Given the description of an element on the screen output the (x, y) to click on. 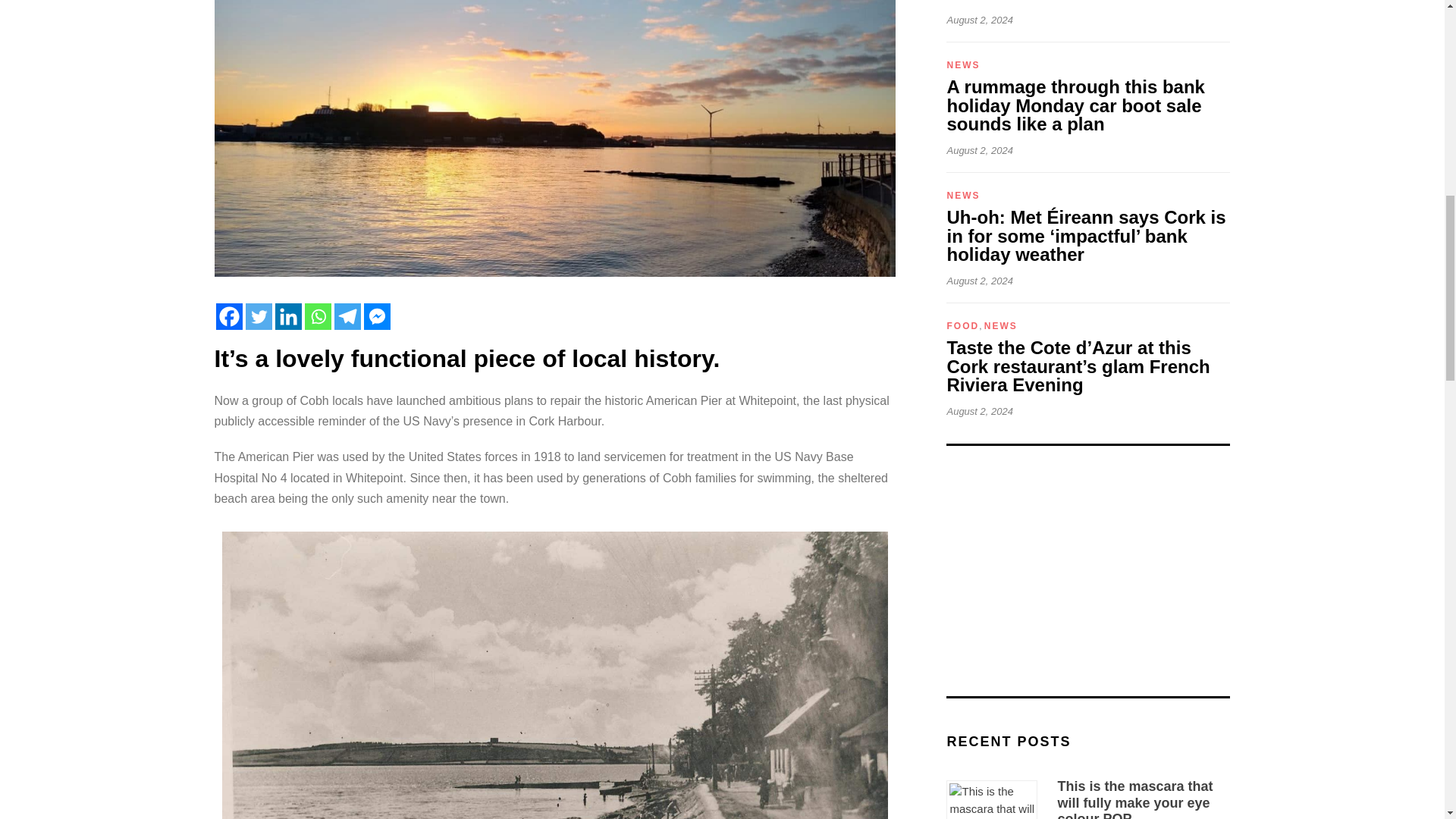
Twitter (259, 316)
Facebook (228, 316)
Telegram (346, 316)
Whatsapp (317, 316)
Linkedin (288, 316)
